Given the description of an element on the screen output the (x, y) to click on. 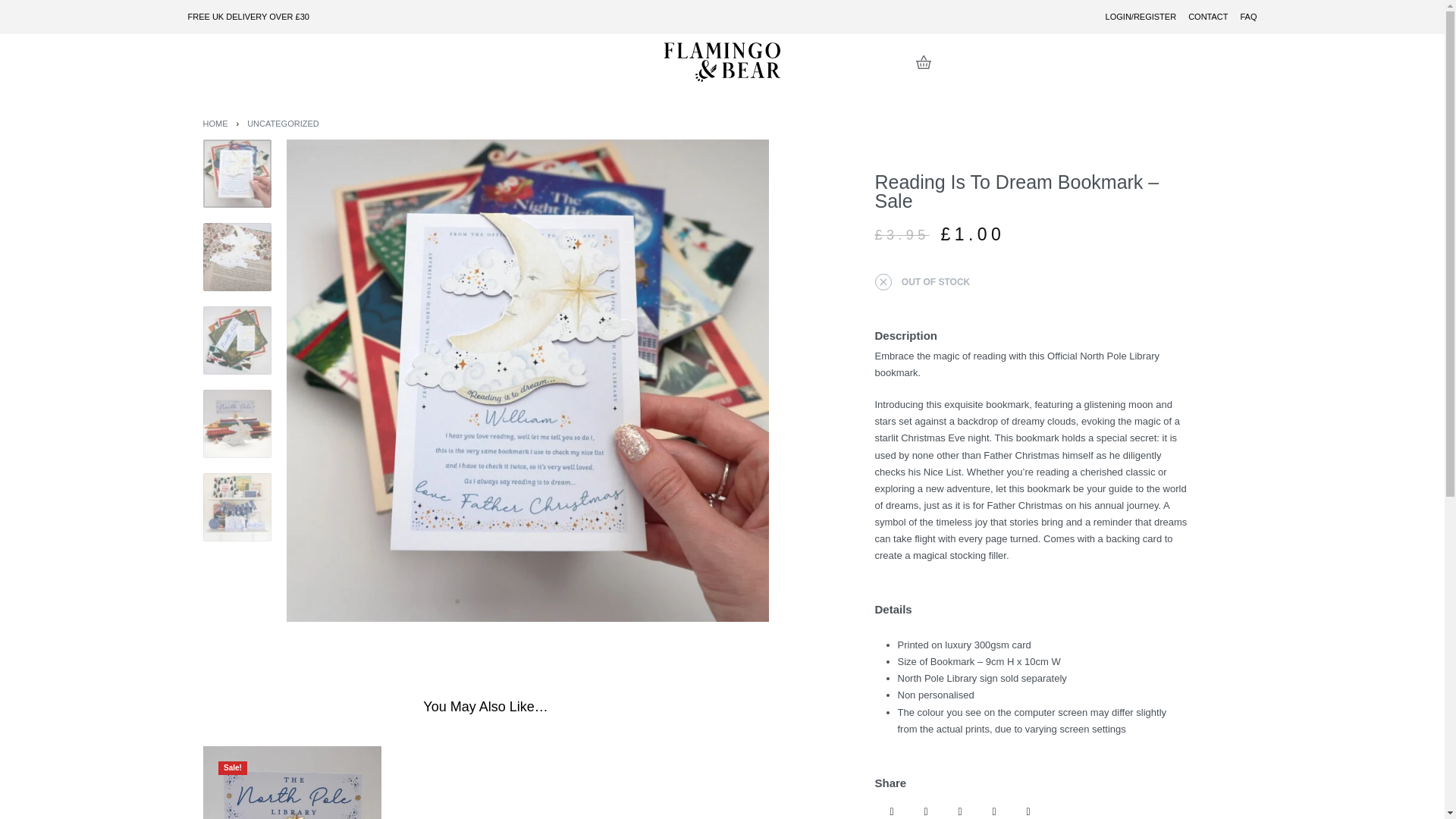
FAQ (1248, 16)
HOME (215, 122)
CONTACT (1207, 16)
UNCATEGORIZED (282, 122)
